Given the description of an element on the screen output the (x, y) to click on. 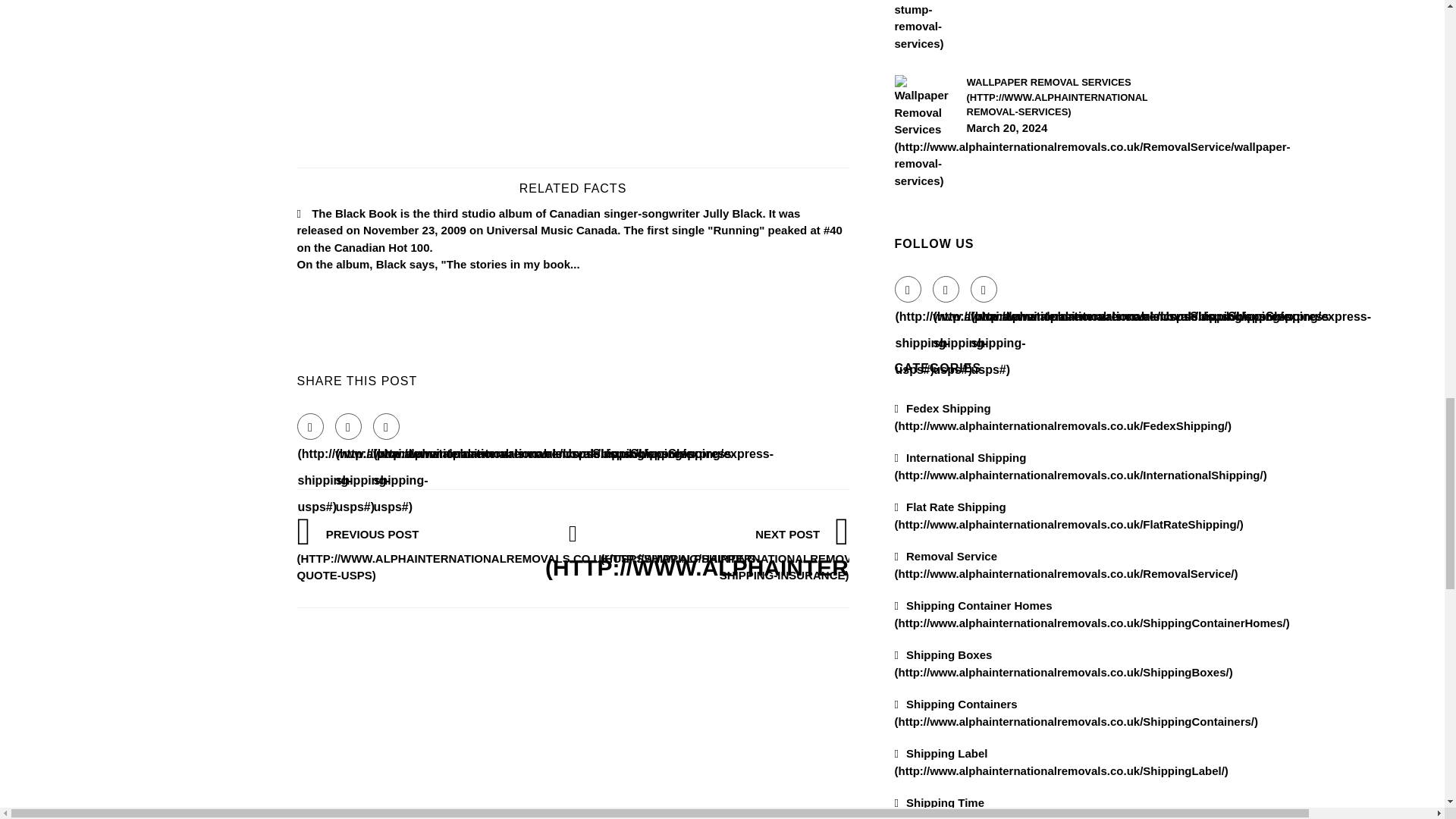
Facebook (908, 289)
Google Plus (984, 289)
View all posts filed under Shipping Boxes (1064, 663)
View all posts filed under Flat Rate Shipping (1069, 515)
Google Plus (385, 426)
Facebook (310, 426)
View all posts filed under Shipping Label (1061, 761)
View all posts filed under Fedex Shipping (1063, 417)
Twitter (946, 289)
View all posts filed under Shipping Container Homes (1092, 613)
